Given the description of an element on the screen output the (x, y) to click on. 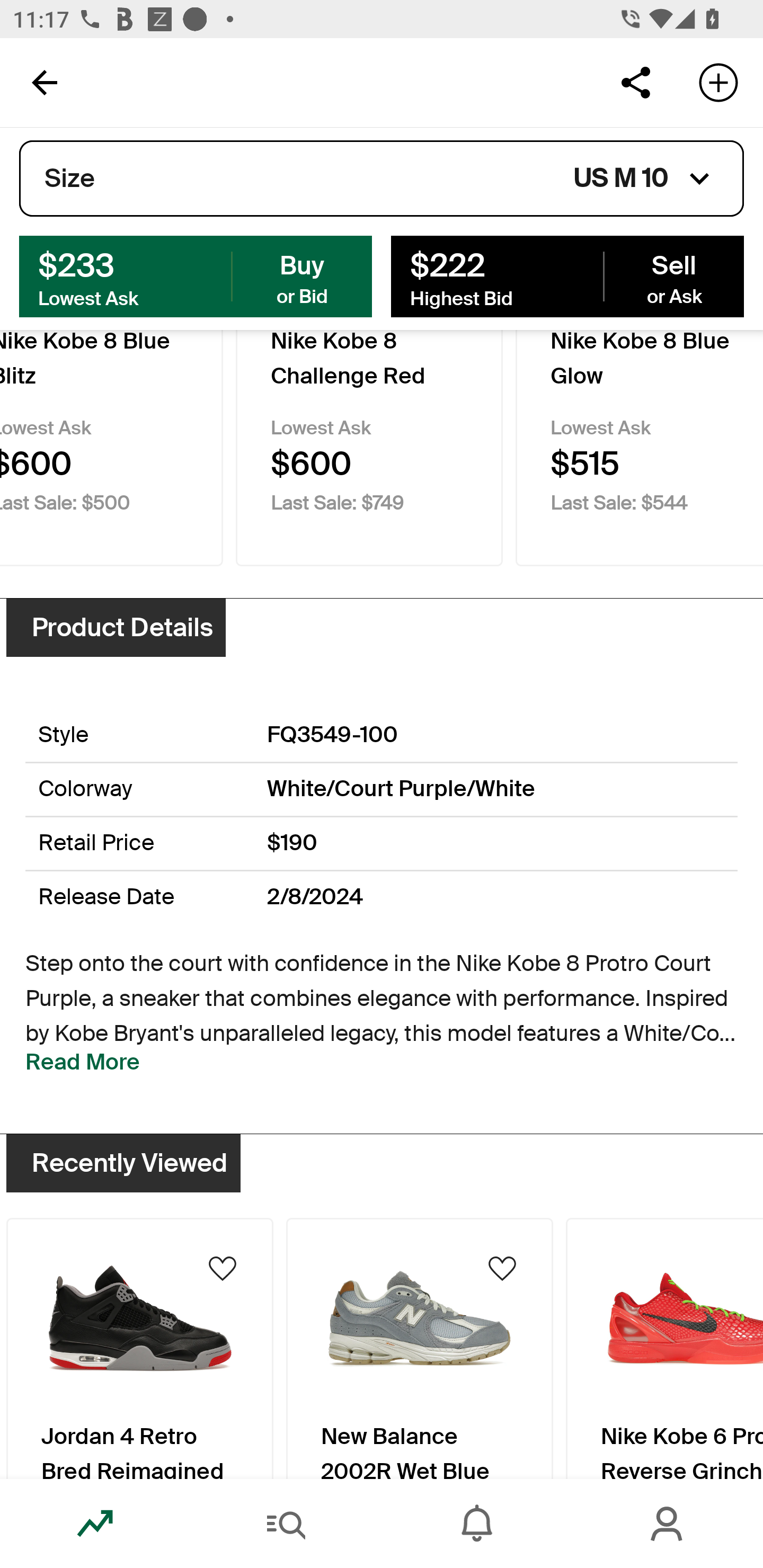
Share (635, 81)
Add (718, 81)
Size US M 10 (381, 178)
$233 Buy Lowest Ask or Bid (195, 275)
$222 Sell Highest Bid or Ask (566, 275)
Read More (82, 1061)
Product Image Jordan 11 Retro DMP Gratitude (2023) (139, 1349)
Product Image Nike Kobe 6 Protro Reverse Grinch (419, 1349)
Product Image adidas Yeezy Slide Slate Grey (664, 1349)
Search (285, 1523)
Inbox (476, 1523)
Account (667, 1523)
